Given the description of an element on the screen output the (x, y) to click on. 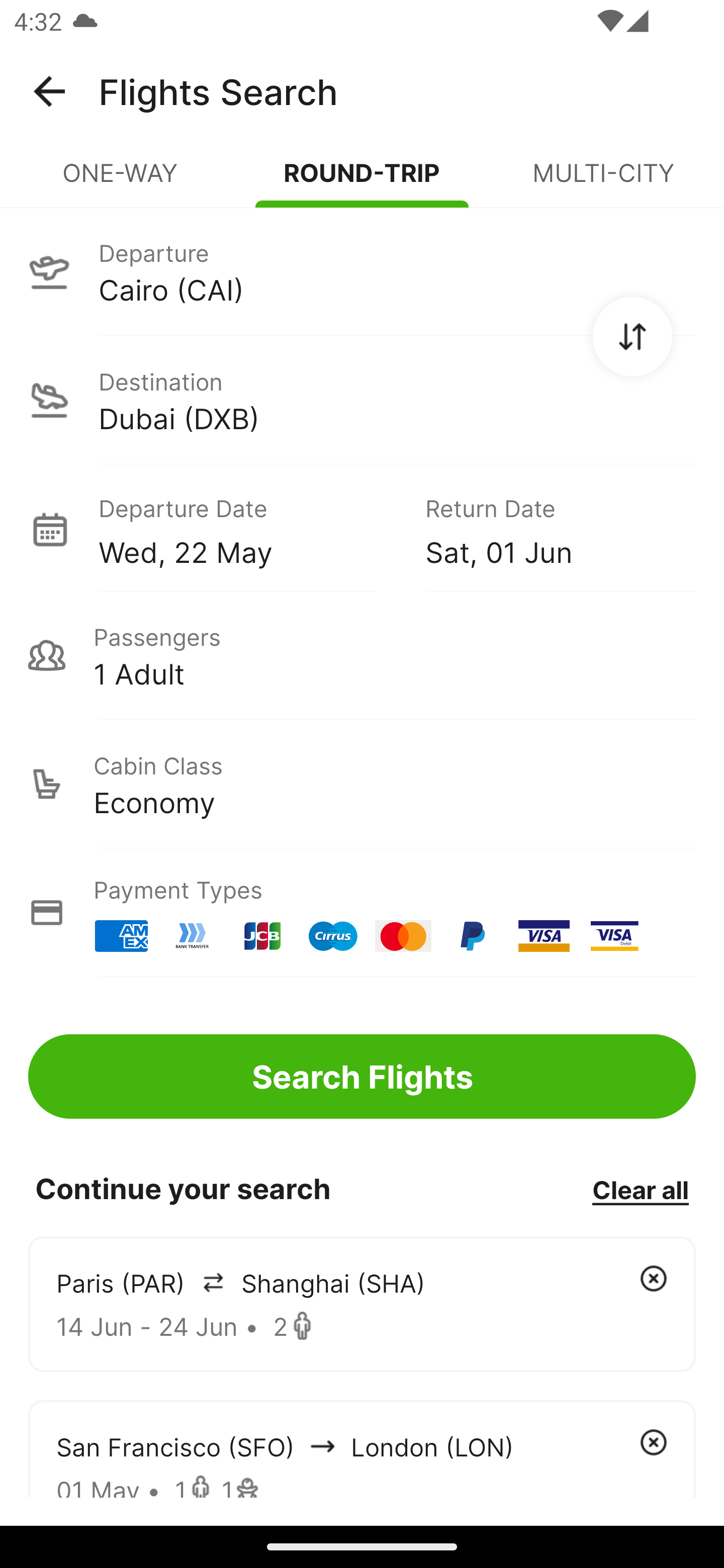
ONE-WAY (120, 180)
ROUND-TRIP (361, 180)
MULTI-CITY (603, 180)
Departure Cairo (CAI) (362, 270)
Destination Dubai (DXB) (362, 400)
Departure Date Wed, 22 May (247, 528)
Return Date Sat, 01 Jun (546, 528)
Passengers 1 Adult (362, 655)
Cabin Class Economy (362, 783)
Payment Types (362, 912)
Search Flights (361, 1075)
Clear all (640, 1189)
